Given the description of an element on the screen output the (x, y) to click on. 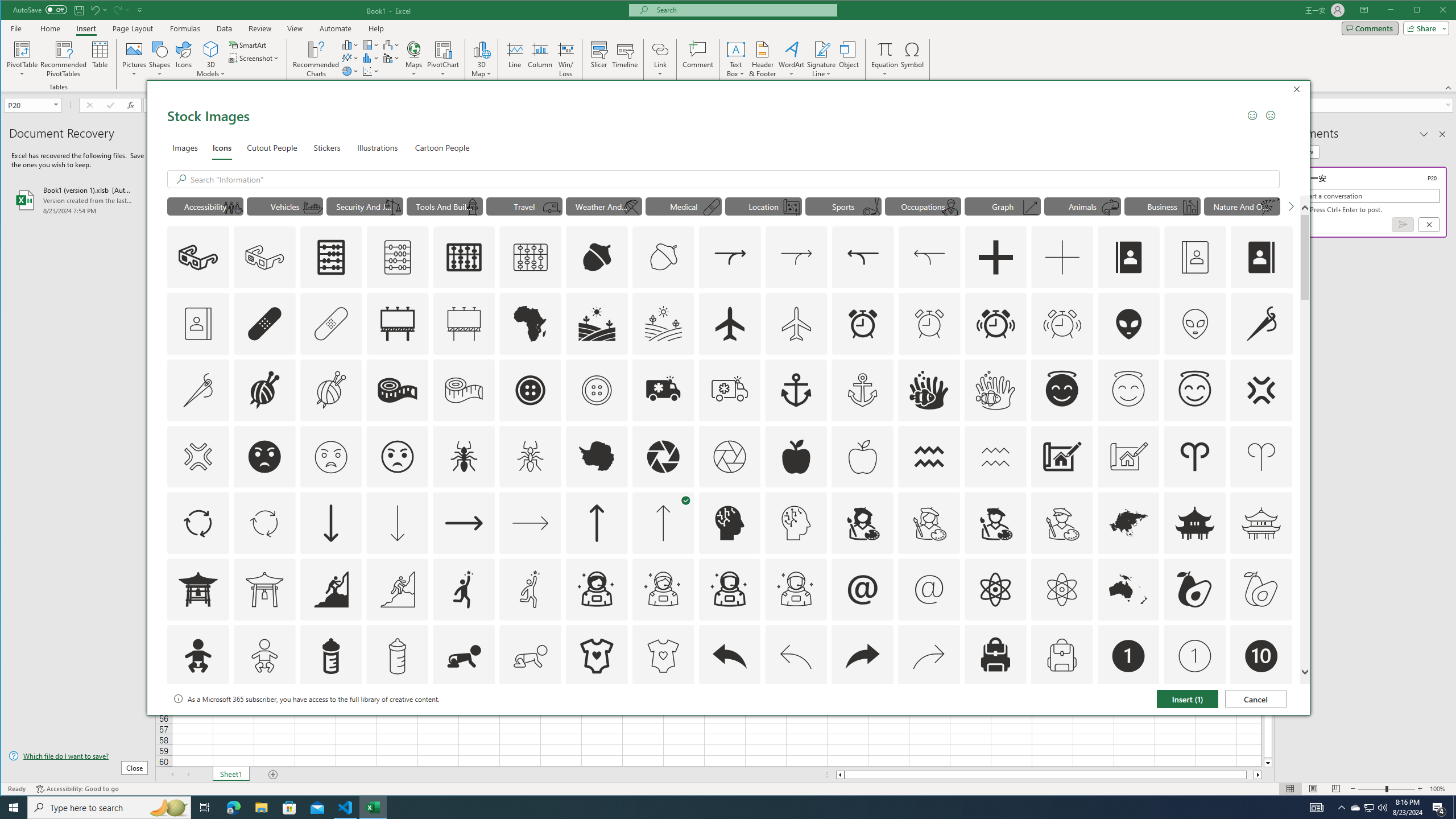
AutomationID: Icons_Aspiration1_M (530, 589)
Send a Frown (1269, 115)
AutomationID: Icons_Advertising (397, 323)
Search "Information" (732, 179)
AutomationID: Icons_AngryFace (264, 456)
PivotTable (22, 59)
Link (659, 48)
AutomationID: Icons_Airplane_M (796, 323)
Pictures (134, 59)
Signature Line (821, 59)
